Given the description of an element on the screen output the (x, y) to click on. 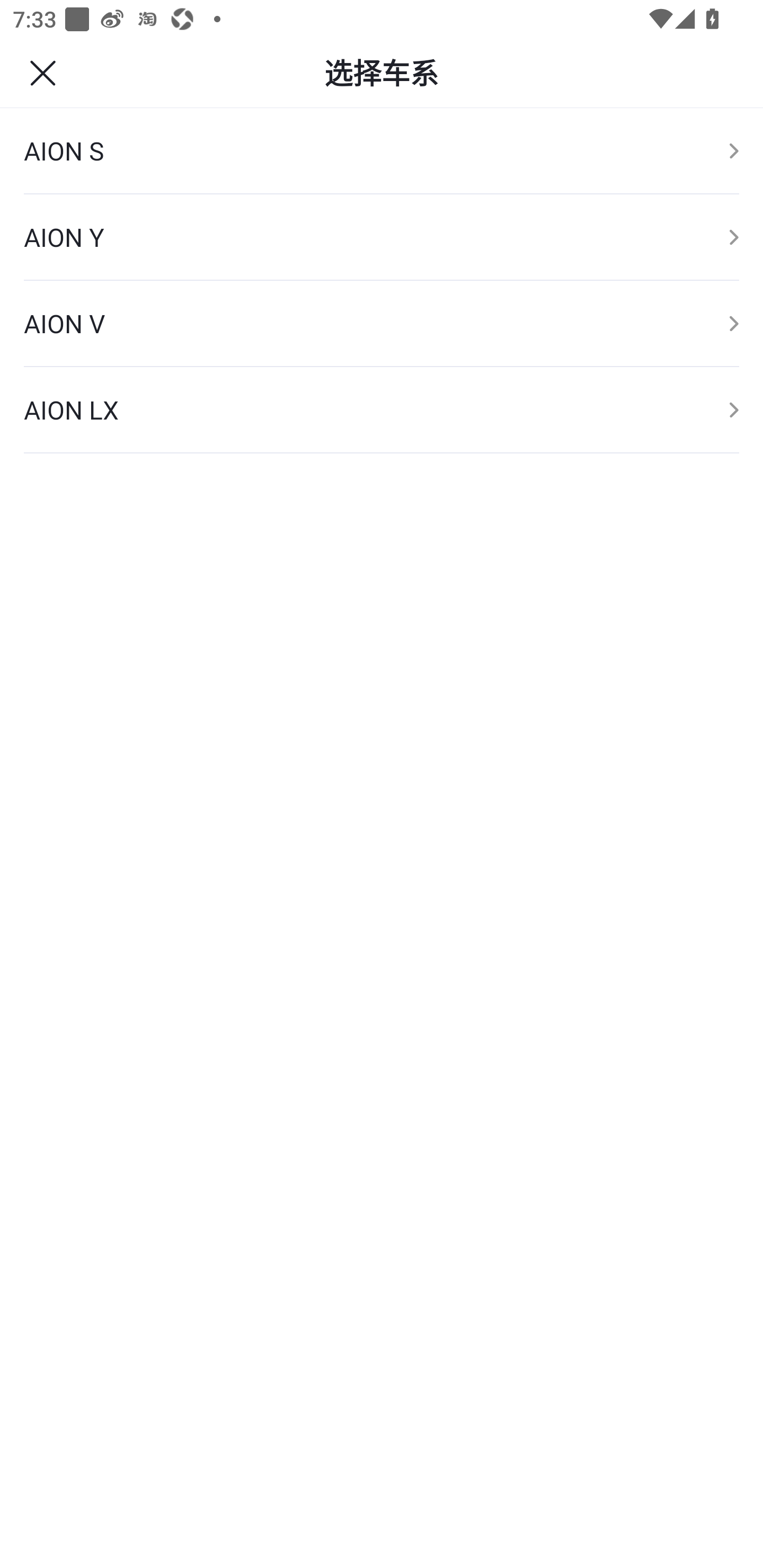
AION S (381, 151)
AION Y (381, 237)
AION V (381, 323)
AION LX (381, 409)
